Given the description of an element on the screen output the (x, y) to click on. 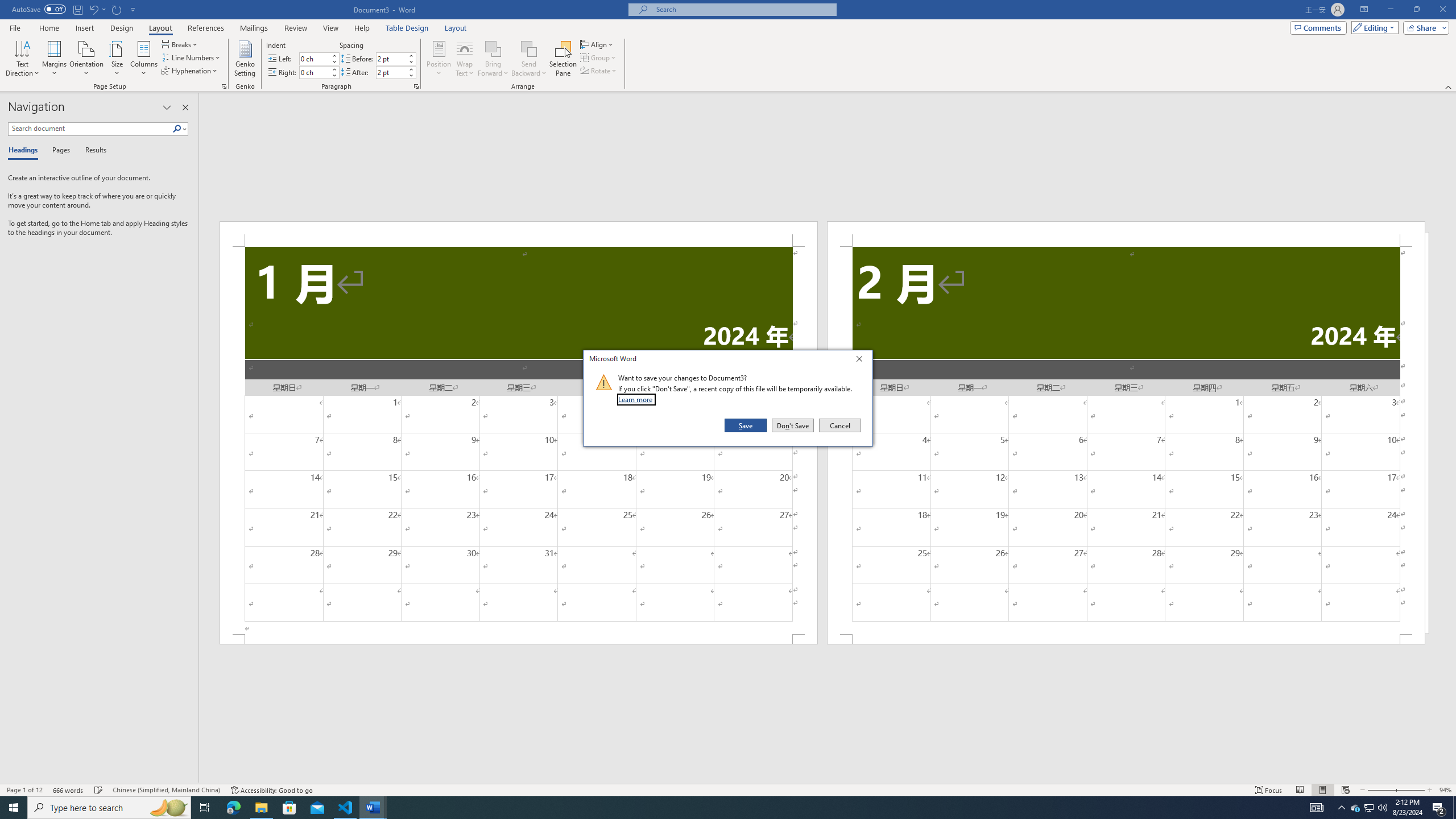
Learn more (636, 399)
Align (597, 44)
Page Number Page 1 of 12 (24, 790)
Send Backward (528, 58)
Microsoft Store (289, 807)
Breaks (1355, 807)
Orientation (179, 44)
